Given the description of an element on the screen output the (x, y) to click on. 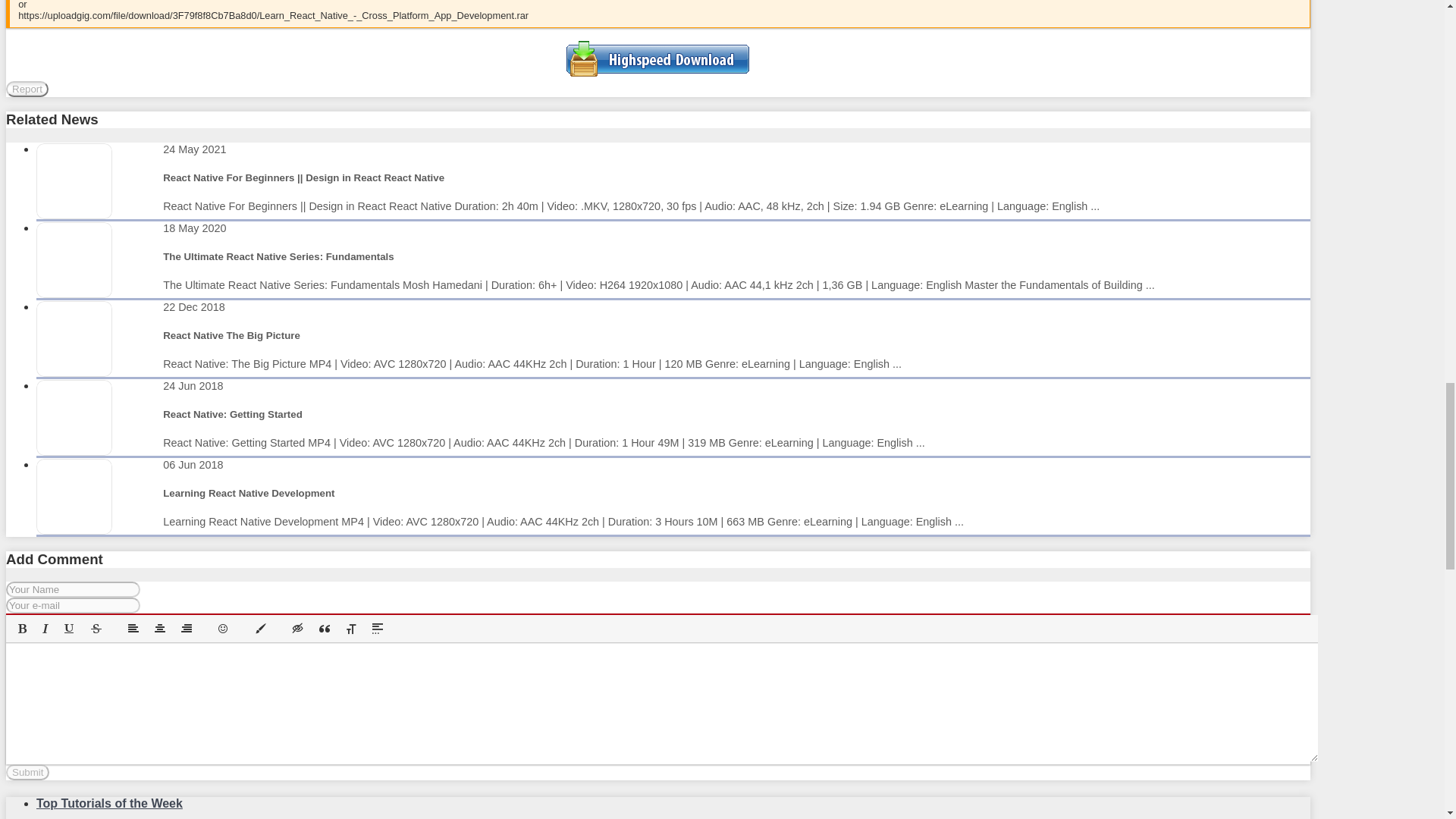
Center (160, 628)
Strike (96, 628)
Select color (261, 628)
Underline (69, 628)
Align left (133, 628)
Insert smilies (223, 628)
Bold (22, 628)
Italic (44, 628)
Align right (186, 628)
Add Hidden Text (297, 628)
